Given the description of an element on the screen output the (x, y) to click on. 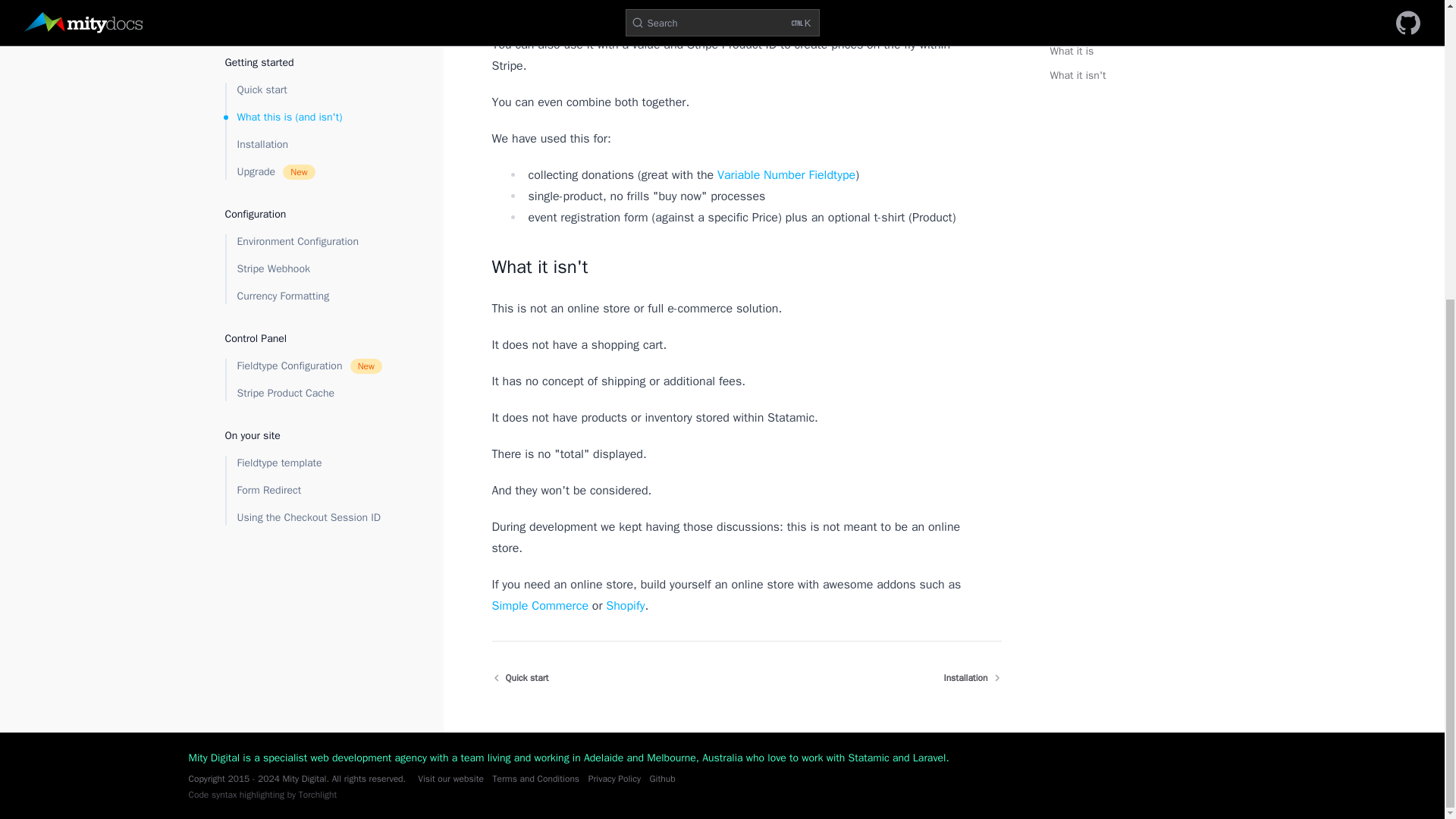
Fieldtype template (309, 125)
Quick start (520, 677)
Installation (972, 677)
Stripe Product Cache (309, 55)
Variable Number Fieldtype (786, 174)
Form Redirect (309, 152)
Shopify (625, 605)
Simple Commerce (309, 28)
Using the Checkout Session ID (540, 605)
